Given the description of an element on the screen output the (x, y) to click on. 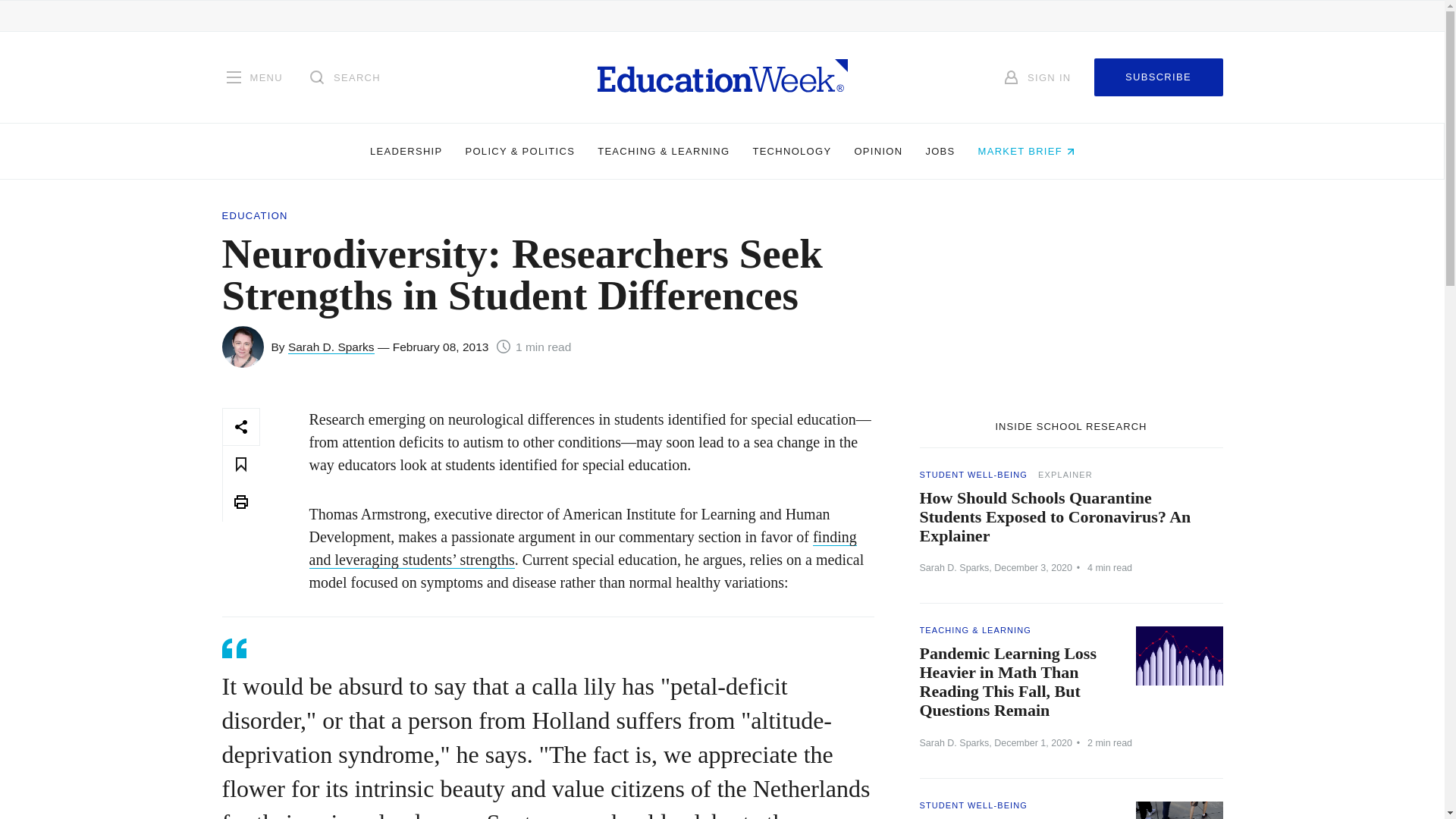
Homepage (721, 76)
